Given the description of an element on the screen output the (x, y) to click on. 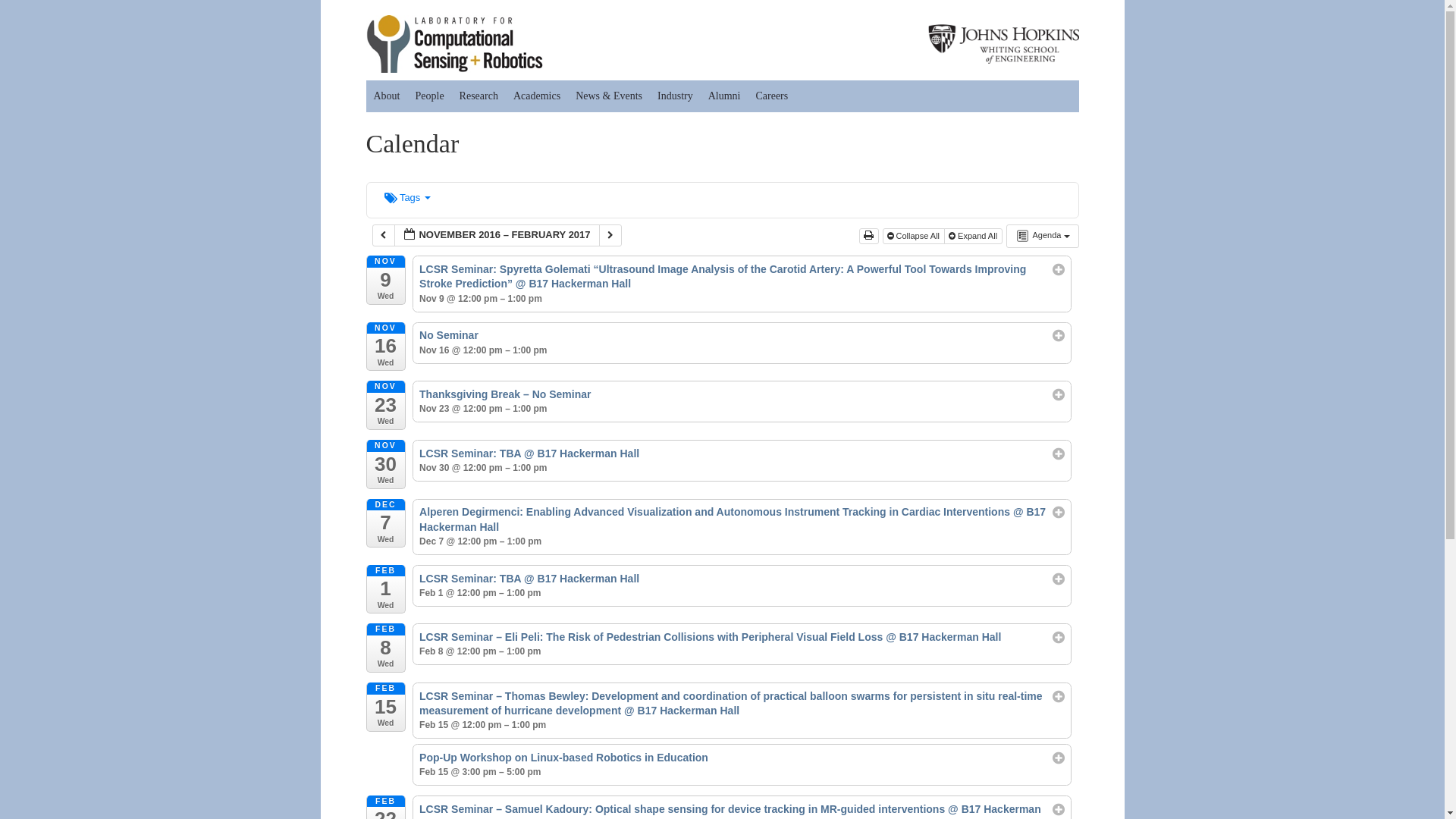
Careers (771, 96)
About (386, 96)
Choose a date using calendar (496, 235)
Research (478, 96)
Alumni (724, 96)
Academics (536, 96)
Industry (674, 96)
Tags (407, 197)
People (429, 96)
